Given the description of an element on the screen output the (x, y) to click on. 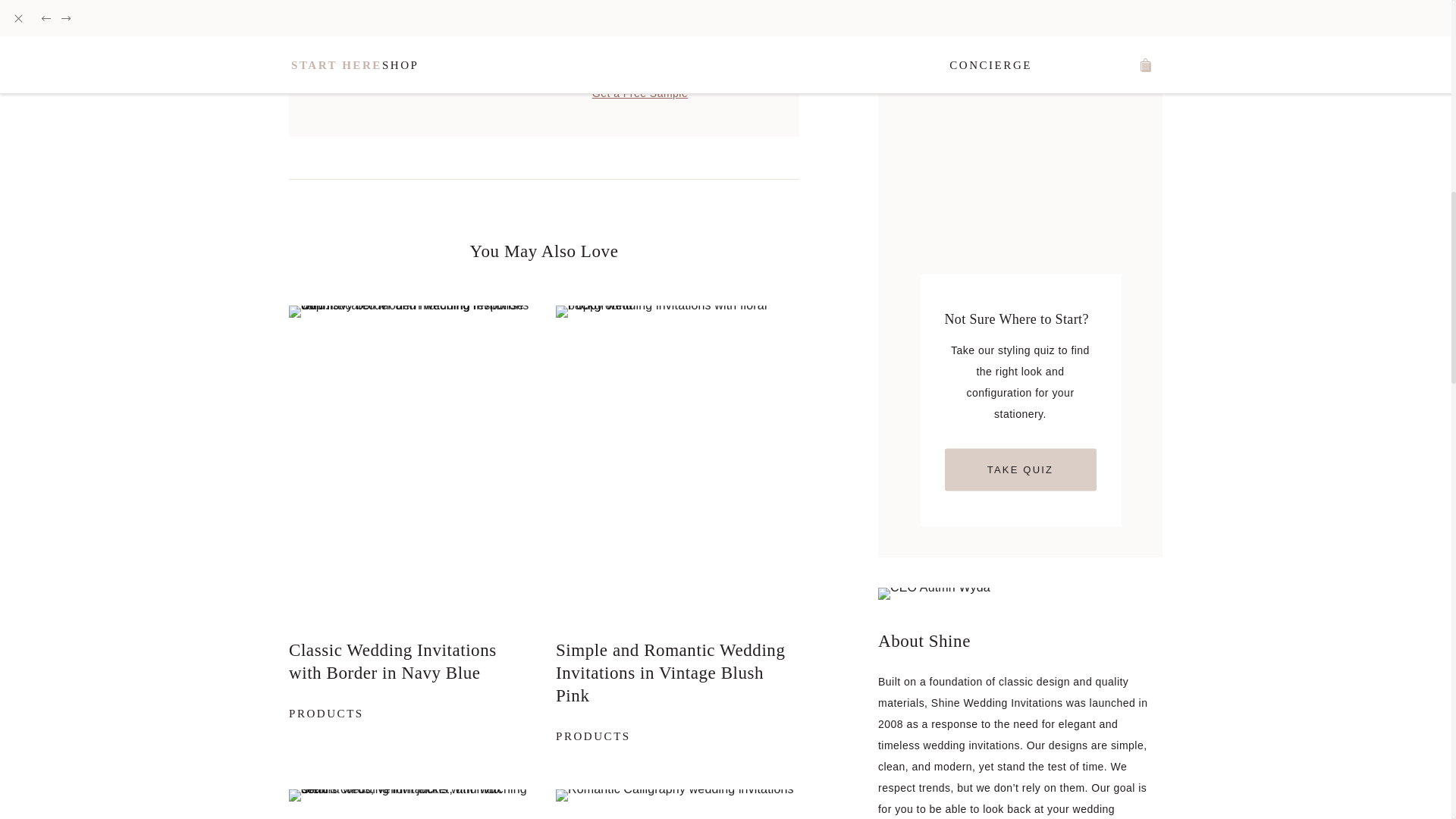
SHOP NOW (409, 803)
Get a Free Sample (640, 54)
